Given the description of an element on the screen output the (x, y) to click on. 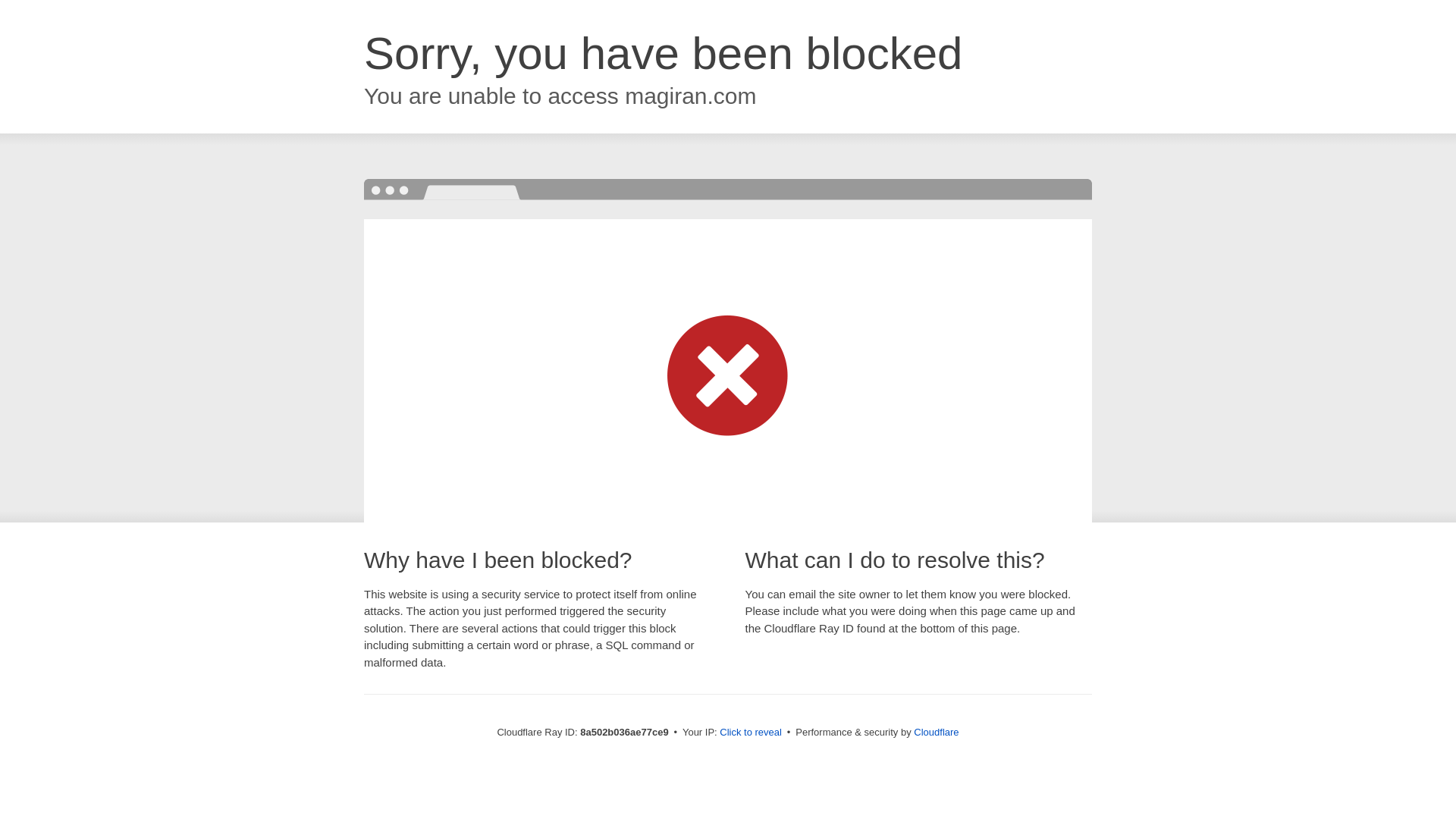
Click to reveal (750, 732)
Cloudflare (936, 731)
